Given the description of an element on the screen output the (x, y) to click on. 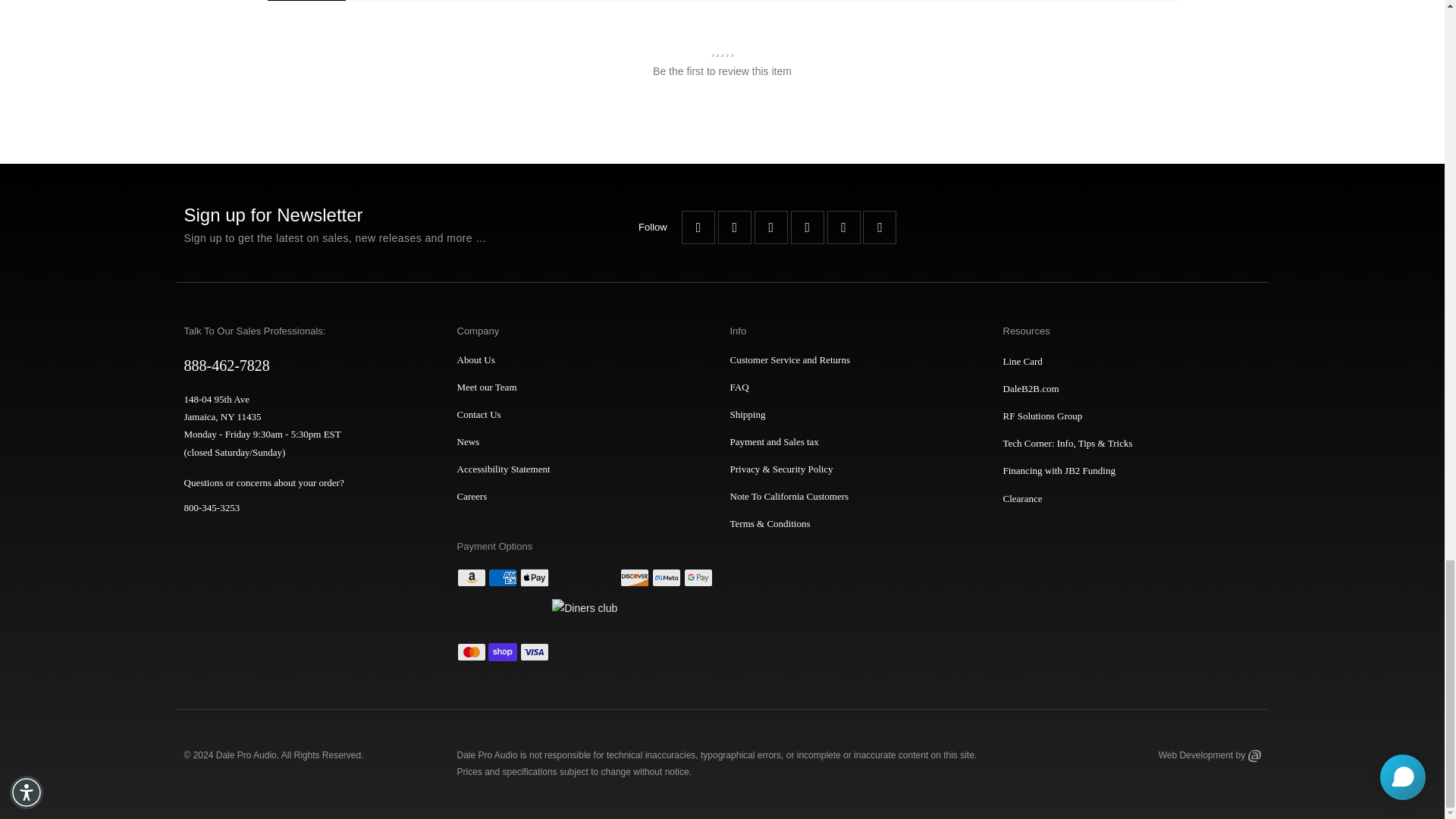
Dale Pro Audio on Pinterest (807, 227)
tel:800-345-3253 (304, 507)
Dale Pro Audio on Twitter (734, 227)
Dale Pro Audio on Instagram (843, 227)
Dale Pro Audio on YouTube (770, 227)
Dale Pro Audio on Facebook (697, 227)
Dale Pro Audio on LinkedIn (879, 227)
